Given the description of an element on the screen output the (x, y) to click on. 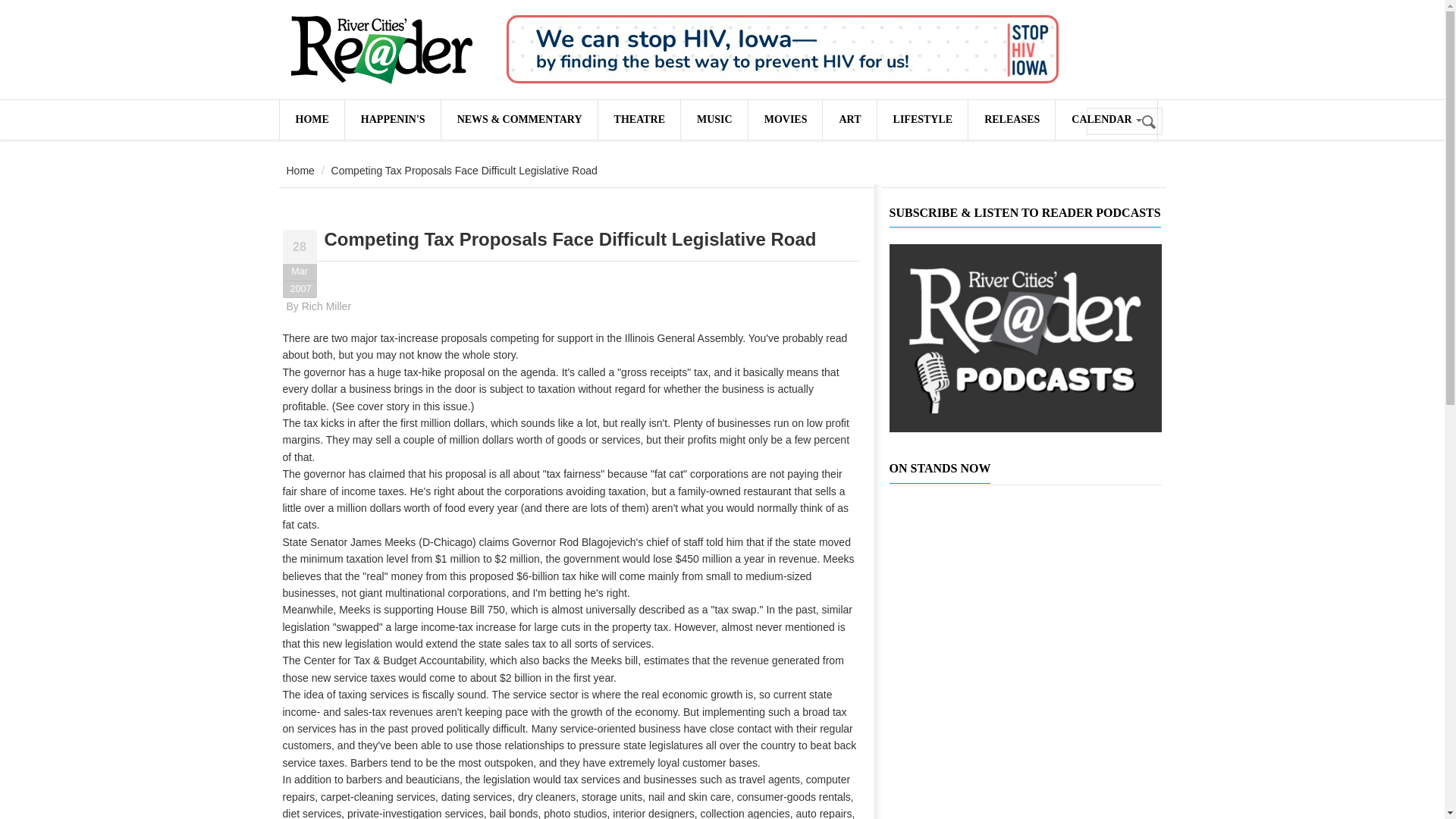
Art (849, 119)
Prevention (782, 49)
Calendar (1106, 119)
What's Happenin' in the River Cities (393, 119)
Lifestyle (922, 119)
LIFESTYLE (922, 119)
Search (1149, 122)
Theatre (638, 119)
THEATRE (638, 119)
